Given the description of an element on the screen output the (x, y) to click on. 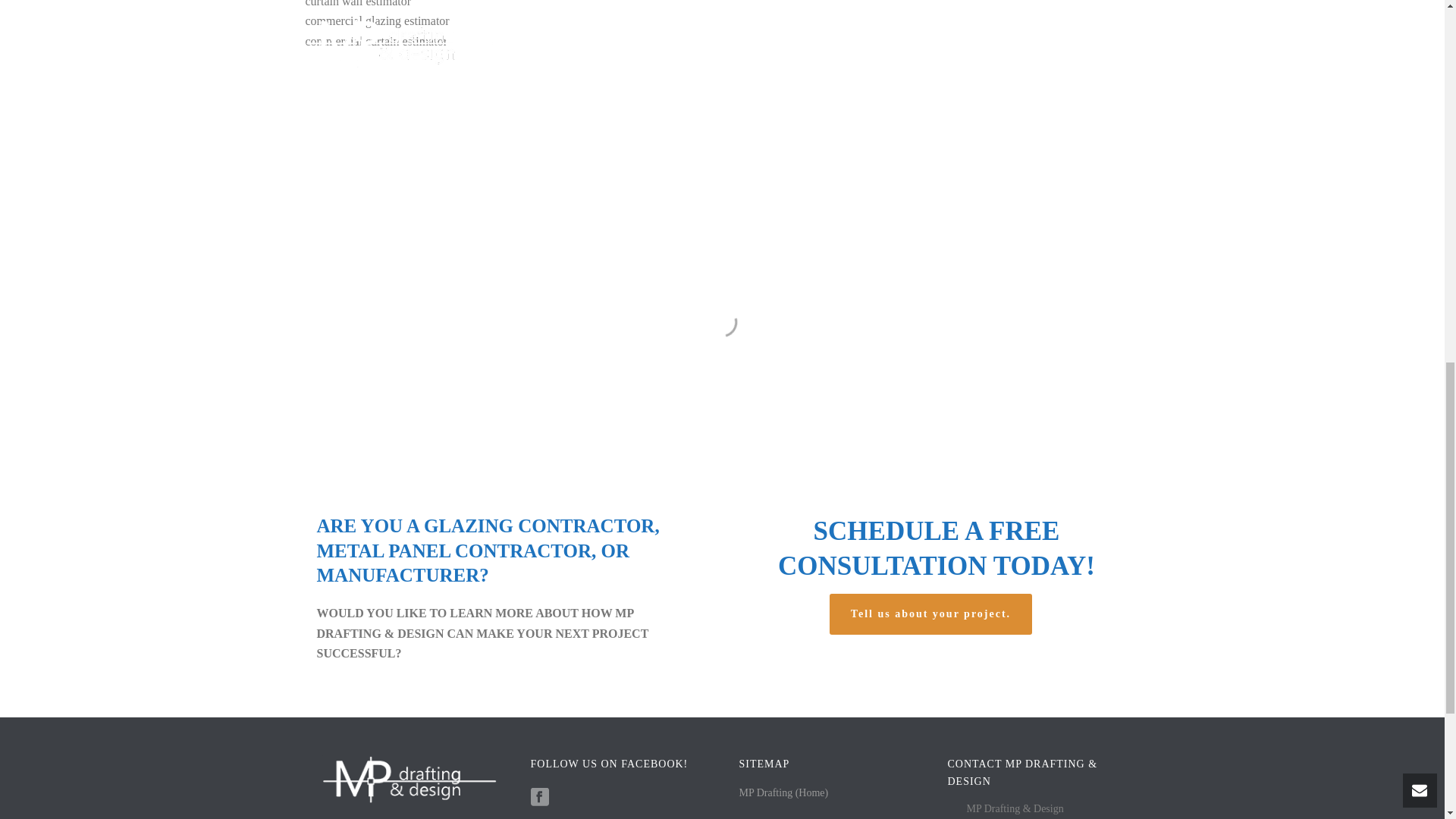
Tell us about your project. (930, 613)
MP Drafting Home (783, 792)
Tell us about your project. (930, 613)
Follow Us on Facebook! facebook (539, 797)
